Given the description of an element on the screen output the (x, y) to click on. 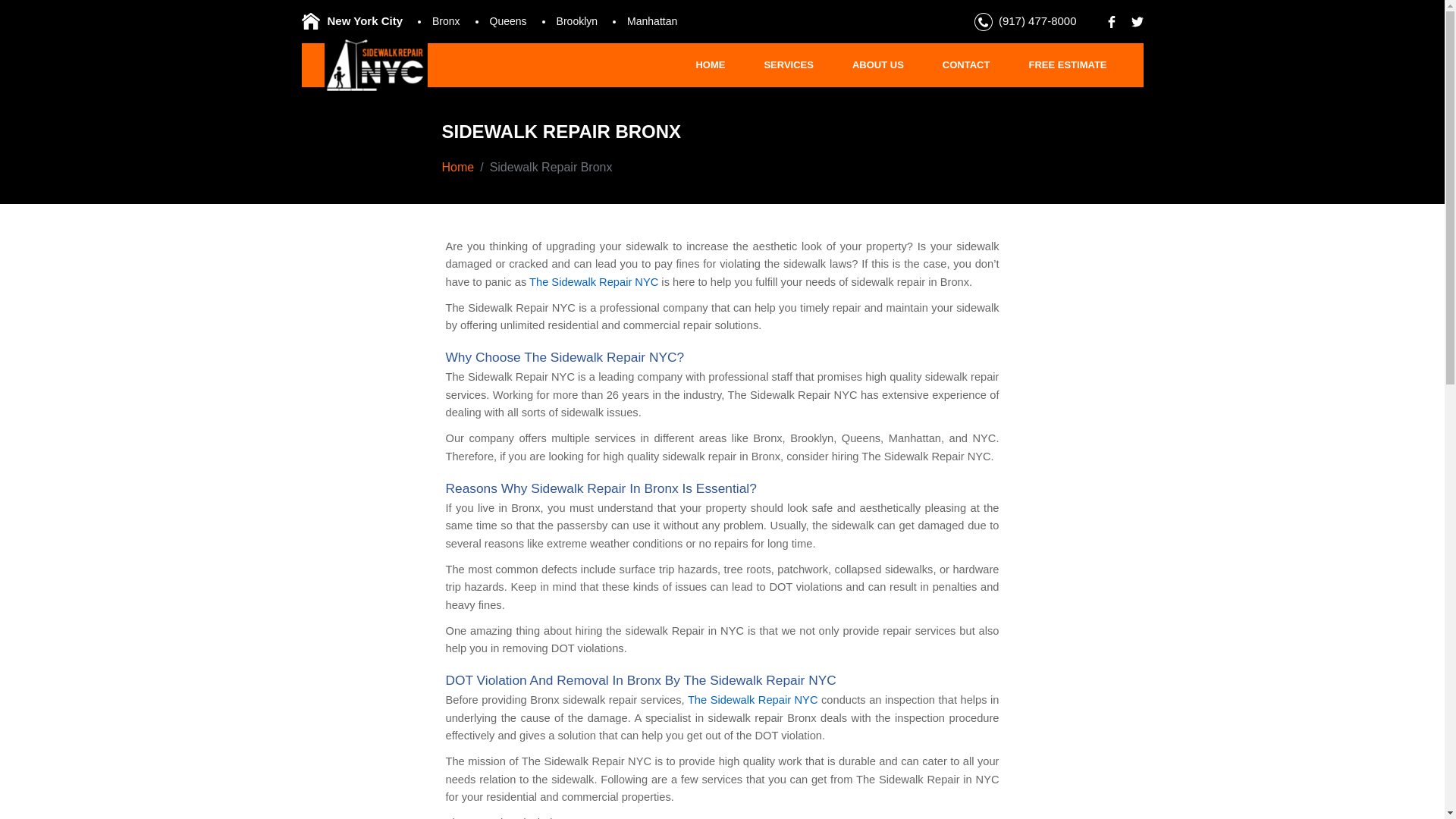
undefined (1136, 21)
undefined (1110, 20)
undefined (1133, 20)
FREE ESTIMATE (1066, 65)
undefined (1111, 21)
undefined (983, 22)
SERVICES (788, 65)
Home (457, 166)
The Sidewalk Repair NYC (752, 699)
ABOUT US (877, 65)
CONTACT (966, 65)
HOME (709, 65)
The Sidewalk Repair NYC (593, 282)
